Given the description of an element on the screen output the (x, y) to click on. 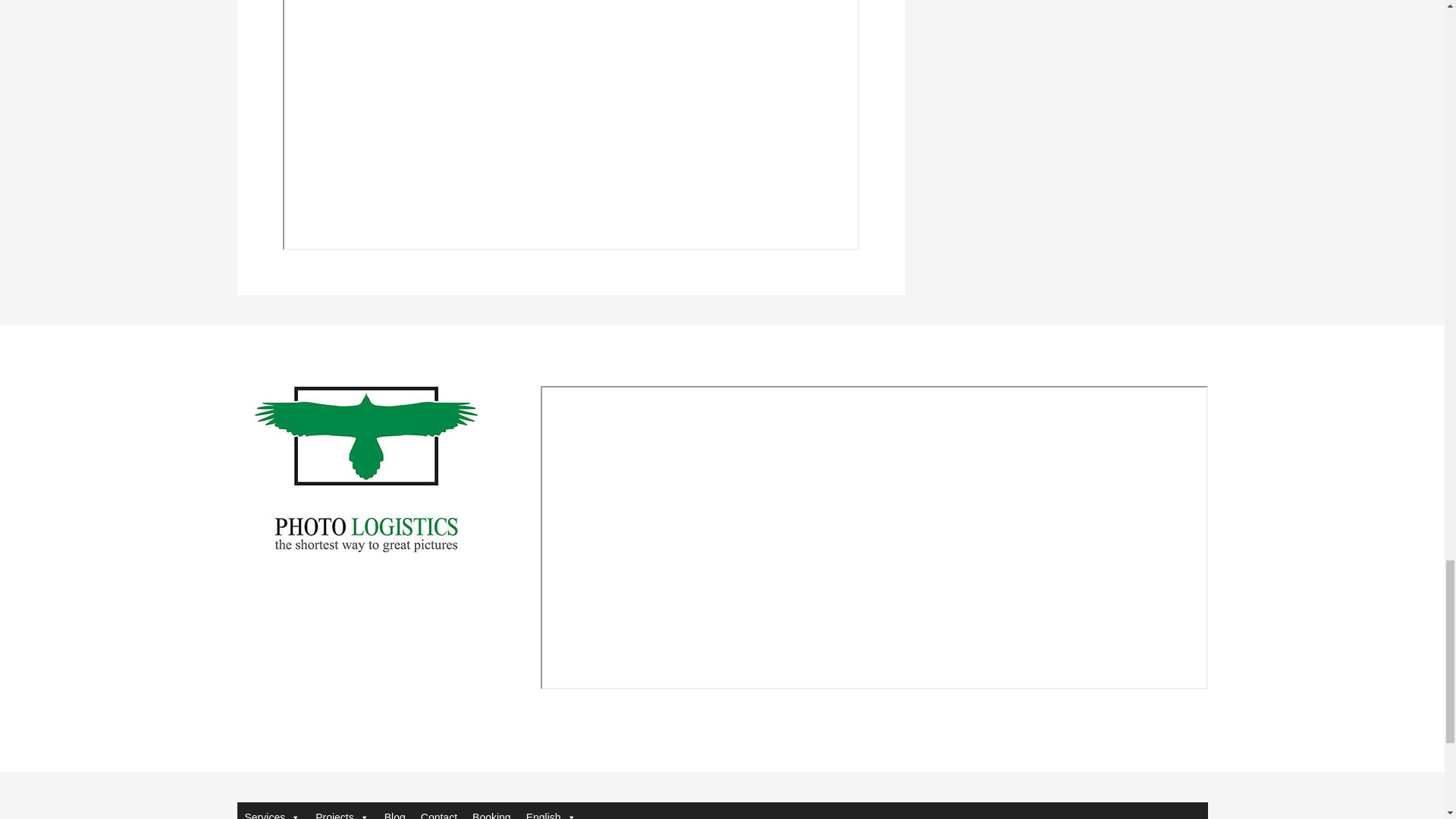
Services (271, 810)
English (550, 810)
